Given the description of an element on the screen output the (x, y) to click on. 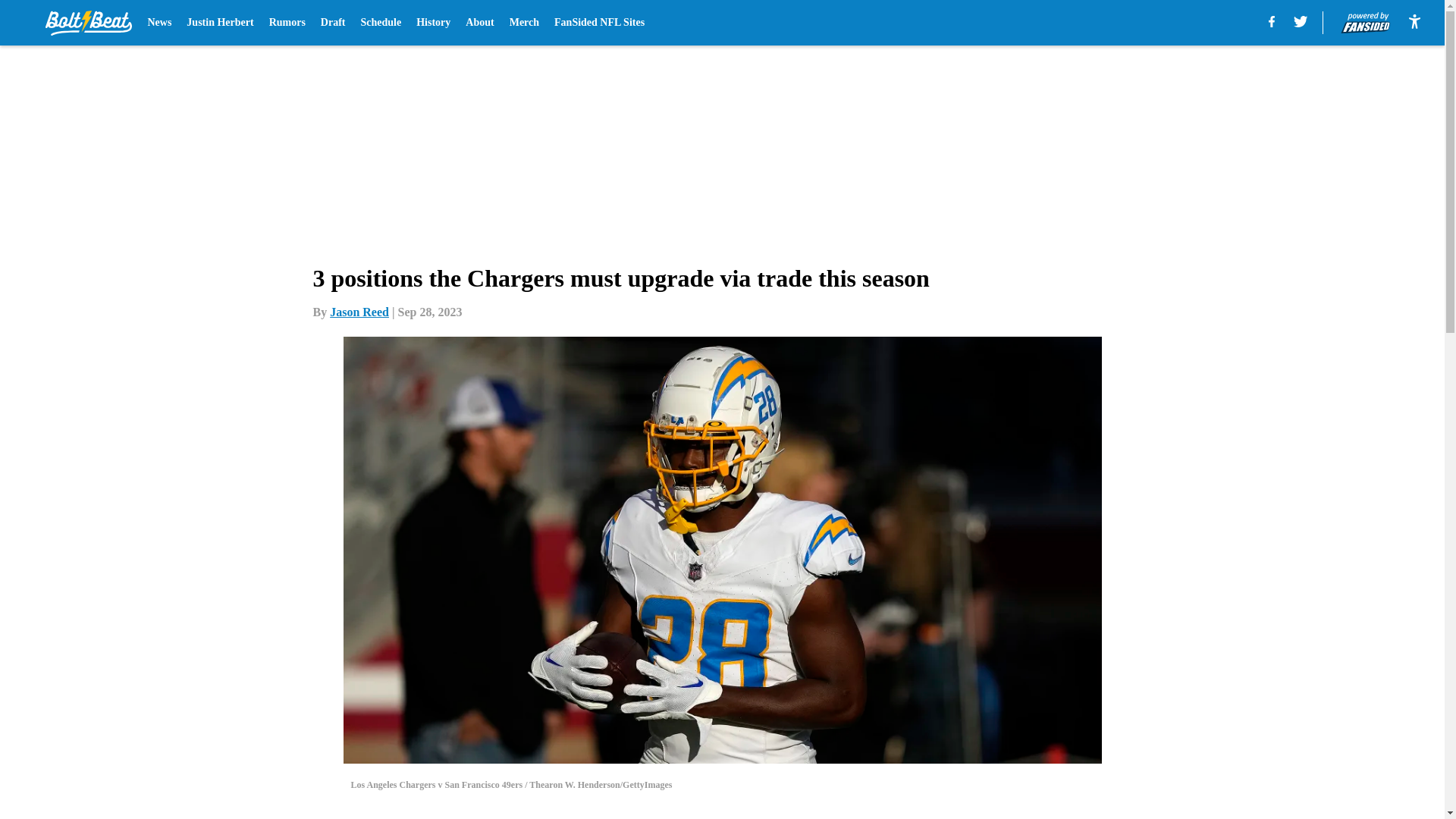
History (432, 22)
Rumors (287, 22)
FanSided NFL Sites (599, 22)
About (479, 22)
Draft (333, 22)
Jason Reed (359, 311)
Justin Herbert (219, 22)
Schedule (381, 22)
Merch (523, 22)
News (159, 22)
